Given the description of an element on the screen output the (x, y) to click on. 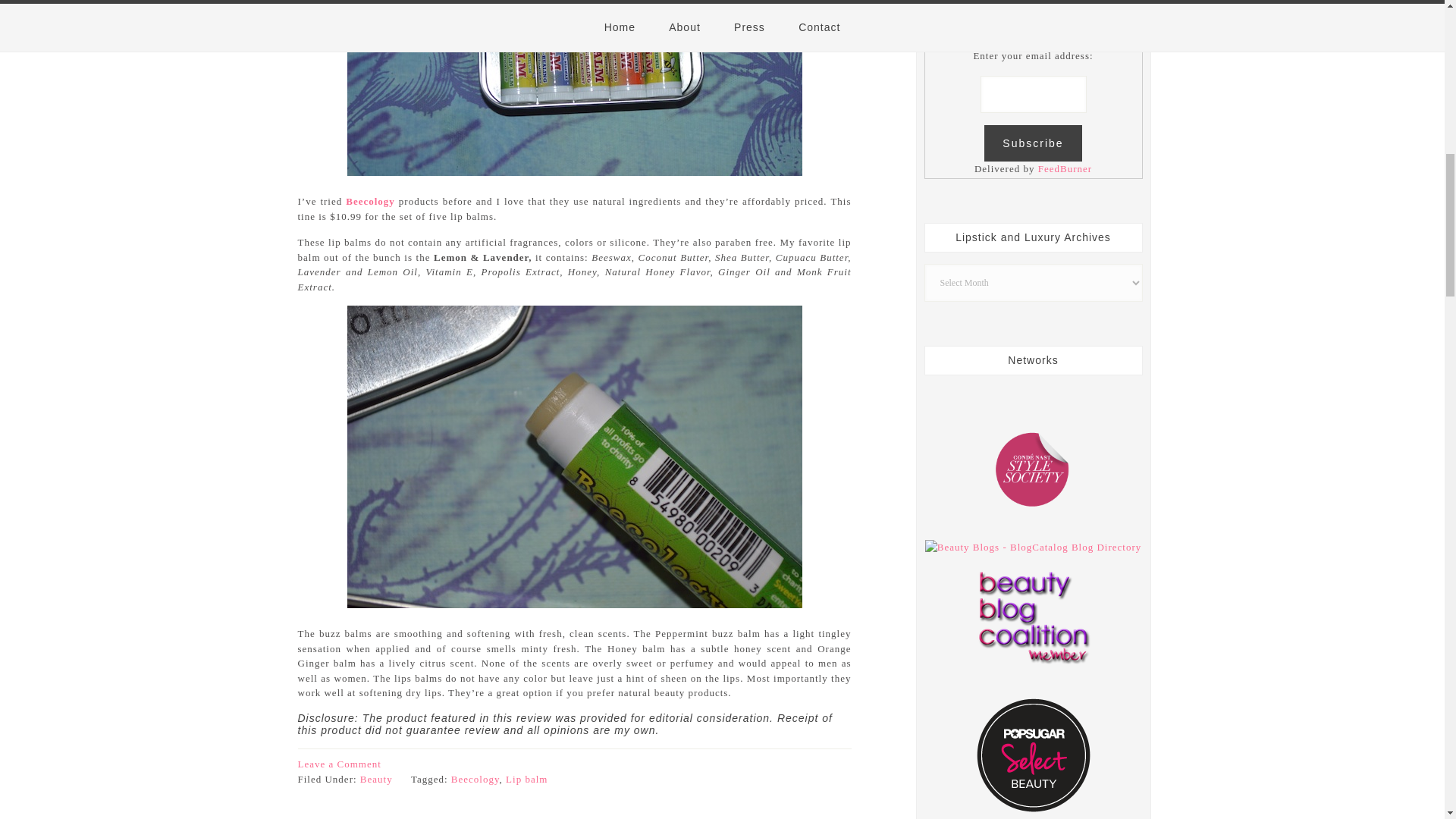
Beecology (370, 201)
Beauty (376, 778)
Lip balm (526, 778)
Catch the buzz: Beecology (370, 201)
Subscribe (1032, 143)
Beecology (475, 778)
Leave a Comment (338, 763)
Beauty Blogs - BlogCatalog Blog Directory (1032, 546)
